Given the description of an element on the screen output the (x, y) to click on. 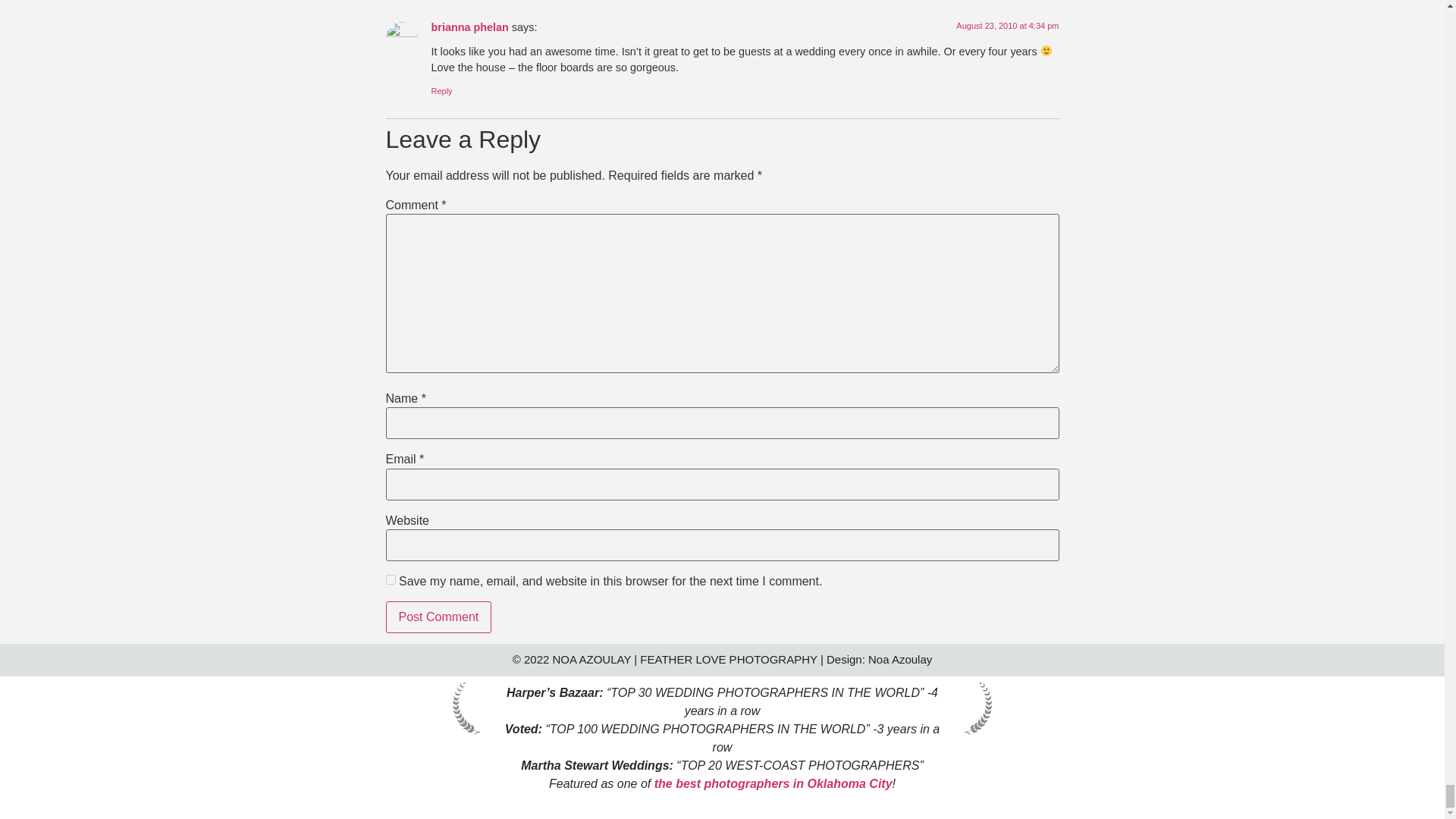
yes (389, 579)
Post Comment (438, 617)
